Given the description of an element on the screen output the (x, y) to click on. 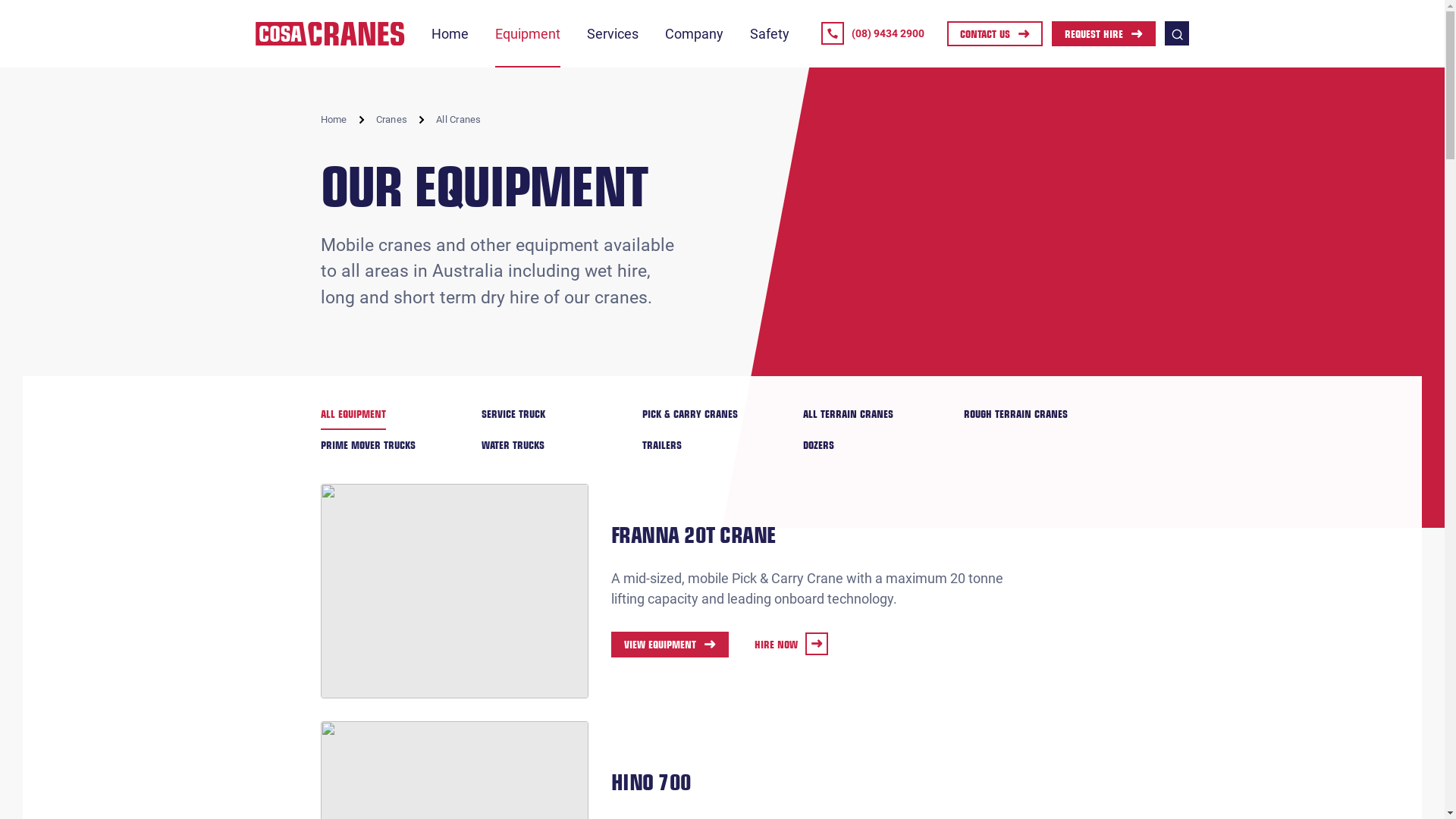
All Cranes Element type: text (458, 119)
Safety Element type: text (768, 33)
(08) 9434 2900 Element type: text (872, 32)
Home Element type: text (333, 119)
ROUGH TERRAIN CRANES Element type: text (1014, 413)
VIEW EQUIPMENT Element type: text (669, 644)
CONTACT US Element type: text (994, 34)
HIRE NOW Element type: text (796, 643)
Company Element type: text (693, 33)
Home Element type: text (448, 33)
REQUEST HIRE Element type: text (1103, 34)
Equipment Element type: text (526, 33)
PRIME MOVER TRUCKS Element type: text (367, 445)
WATER TRUCKS Element type: text (511, 445)
ALL EQUIPMENT Element type: text (352, 413)
PICK & CARRY CRANES Element type: text (689, 413)
TRAILERS Element type: text (660, 445)
SERVICE TRUCK Element type: text (512, 413)
ALL TERRAIN CRANES Element type: text (847, 413)
DOZERS Element type: text (817, 445)
Services Element type: text (612, 33)
Cranes Element type: text (391, 119)
